Given the description of an element on the screen output the (x, y) to click on. 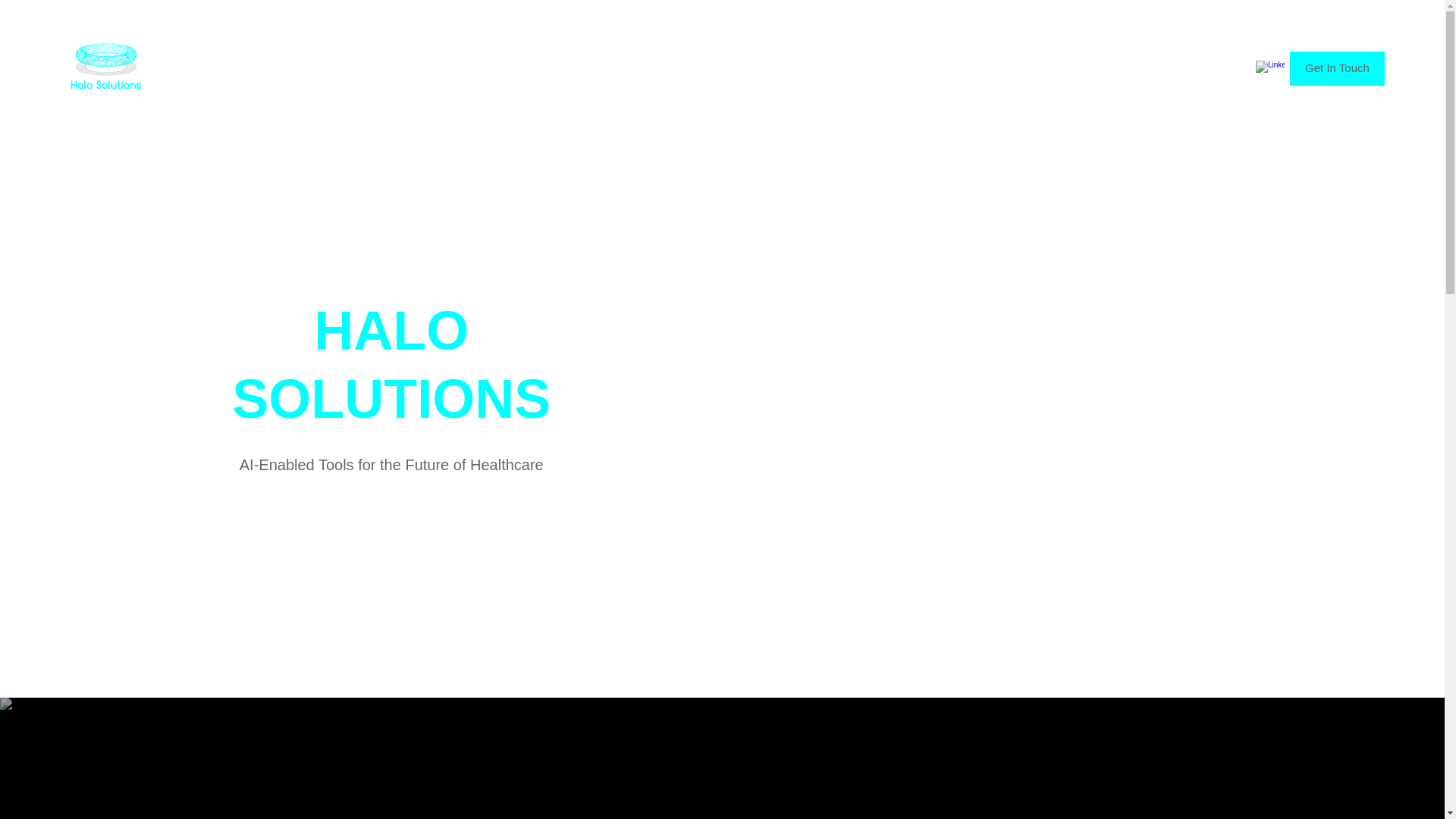
Get In Touch (1337, 68)
